Given the description of an element on the screen output the (x, y) to click on. 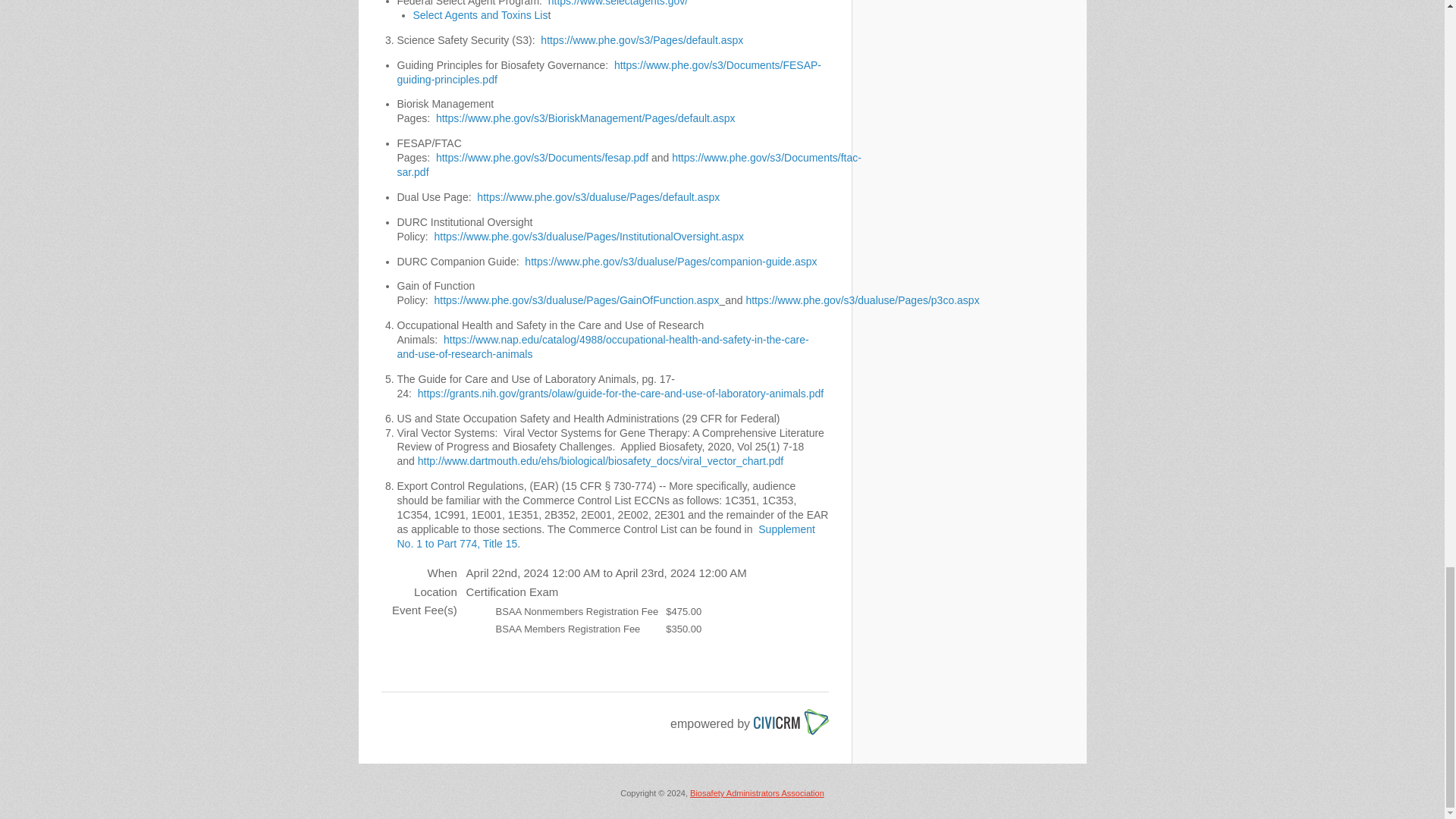
Supplement No. 1 to Part 774, Title 15 (606, 536)
Biosafety Administrators Association (757, 792)
CiviCRM.org - Growing and Sustaining Relationships (791, 714)
Select Agents and Toxins Lis (479, 15)
